Given the description of an element on the screen output the (x, y) to click on. 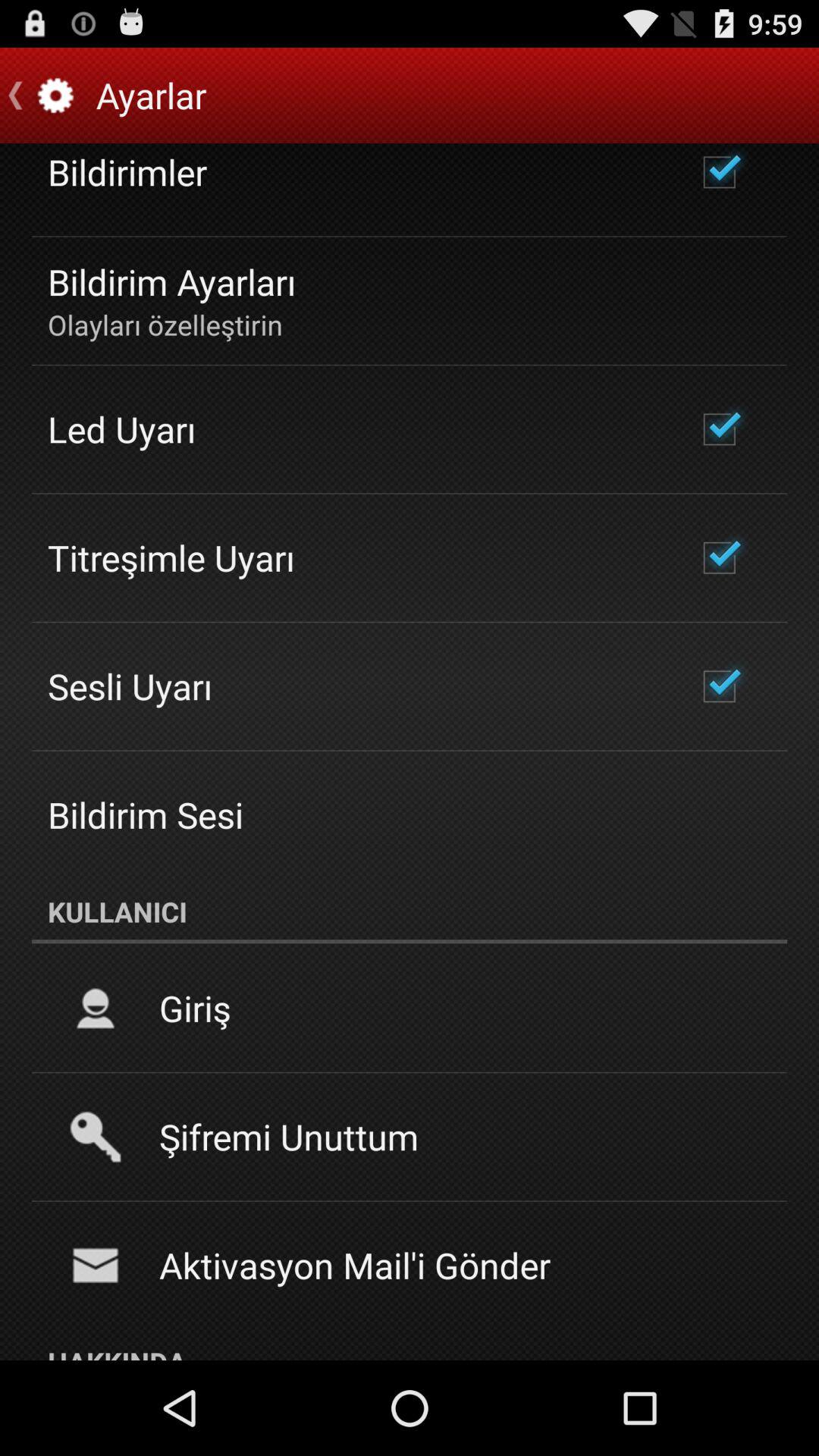
swipe to the kullanici item (409, 911)
